Given the description of an element on the screen output the (x, y) to click on. 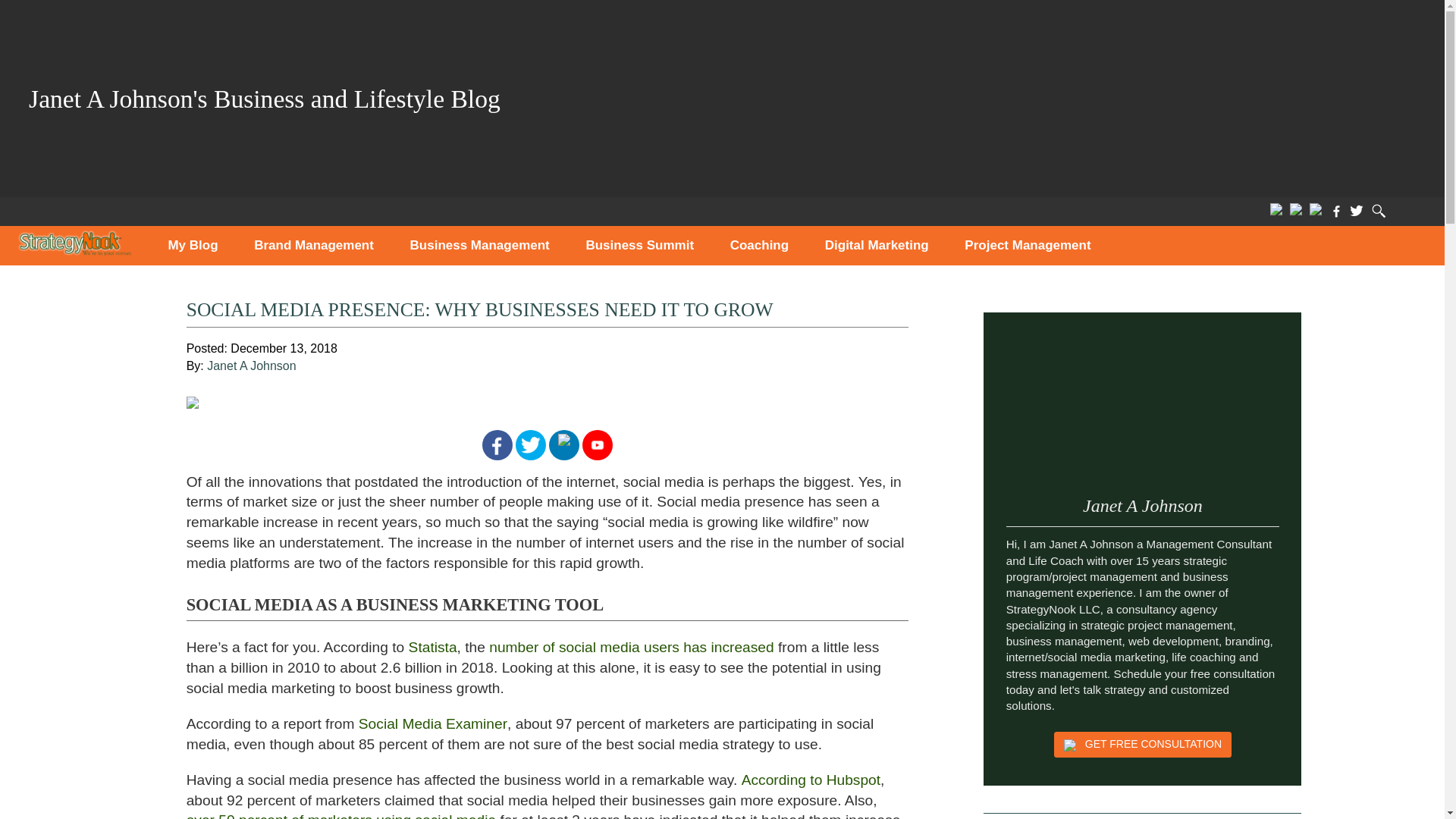
According to Hubspot (810, 779)
over 50 percent of marketers using social media (341, 815)
Project Management (1028, 245)
Digital Marketing (876, 245)
GET FREE CONSULTATION (1142, 744)
Janet A Johnson (250, 365)
Social Media Examiner (432, 723)
Brand Management (313, 245)
Statista (433, 647)
Business Summit (639, 245)
